Given the description of an element on the screen output the (x, y) to click on. 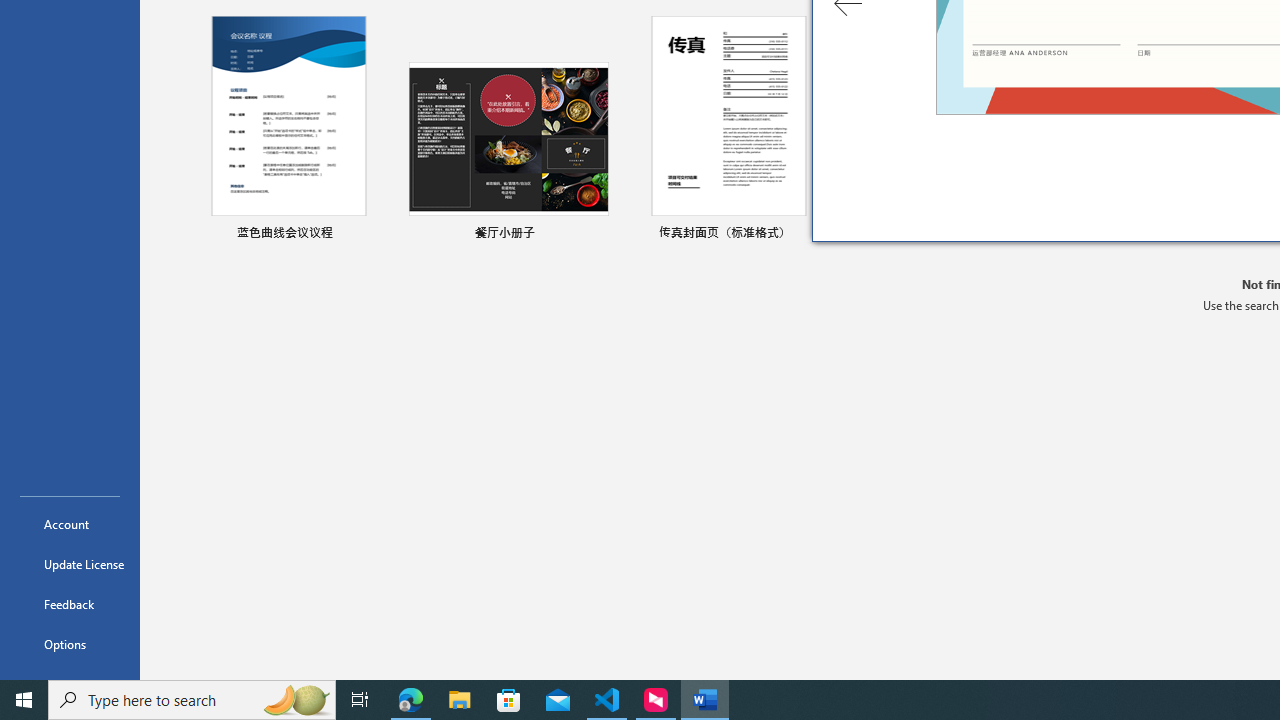
Microsoft Edge - 1 running window (411, 699)
Options (69, 643)
Pin to list (595, 234)
